Given the description of an element on the screen output the (x, y) to click on. 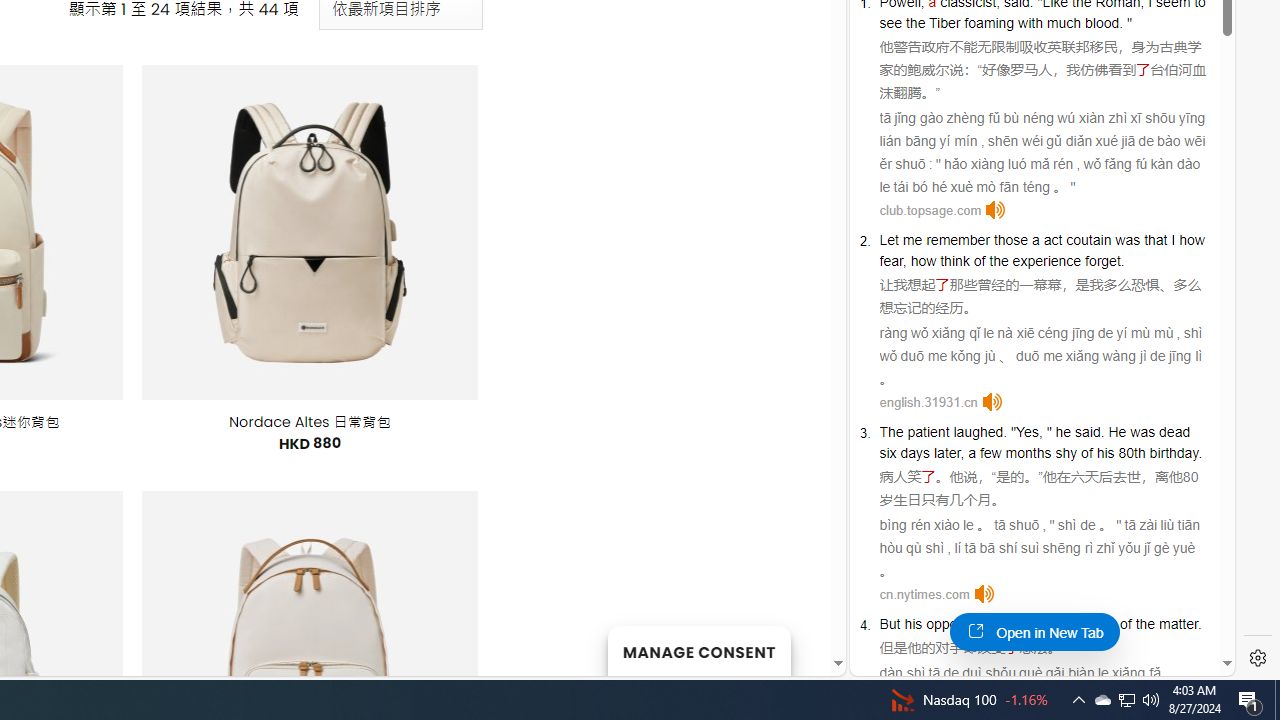
months (1028, 452)
was (1142, 431)
MANAGE CONSENT (698, 650)
act (1052, 239)
birthday (1174, 452)
